Given the description of an element on the screen output the (x, y) to click on. 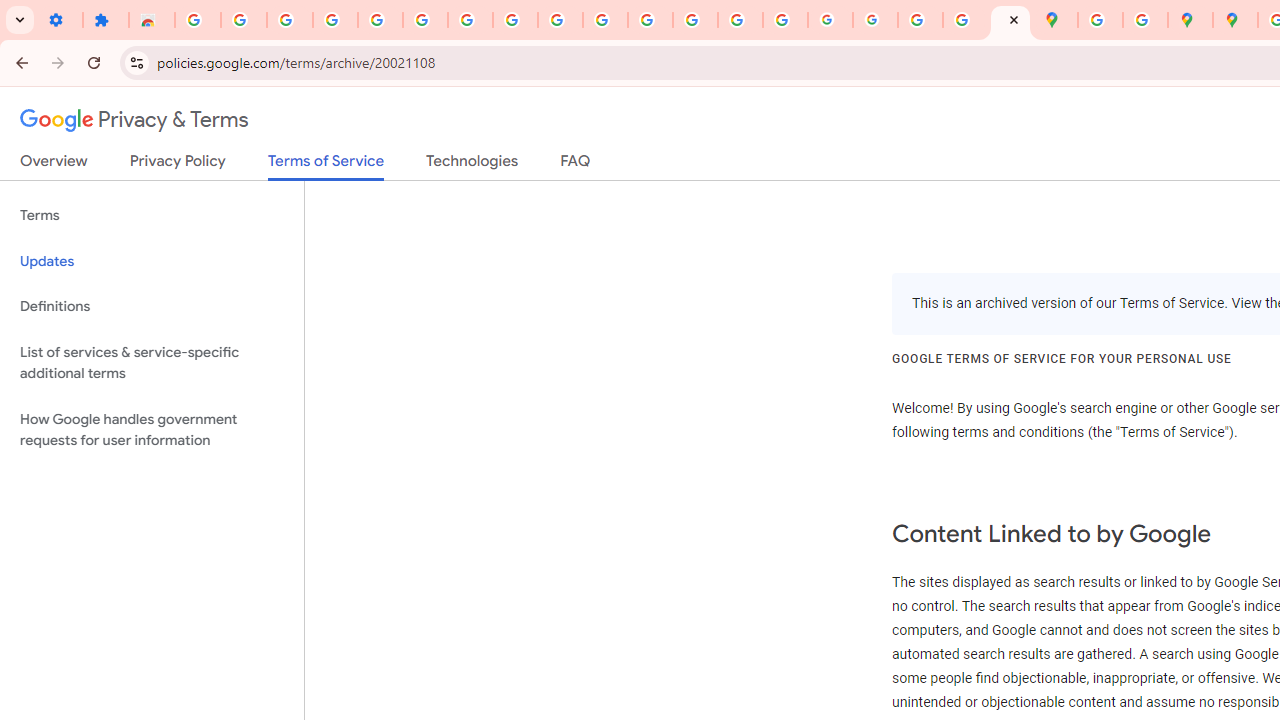
Overview (54, 165)
Technologies (472, 165)
Google Account (514, 20)
